Given the description of an element on the screen output the (x, y) to click on. 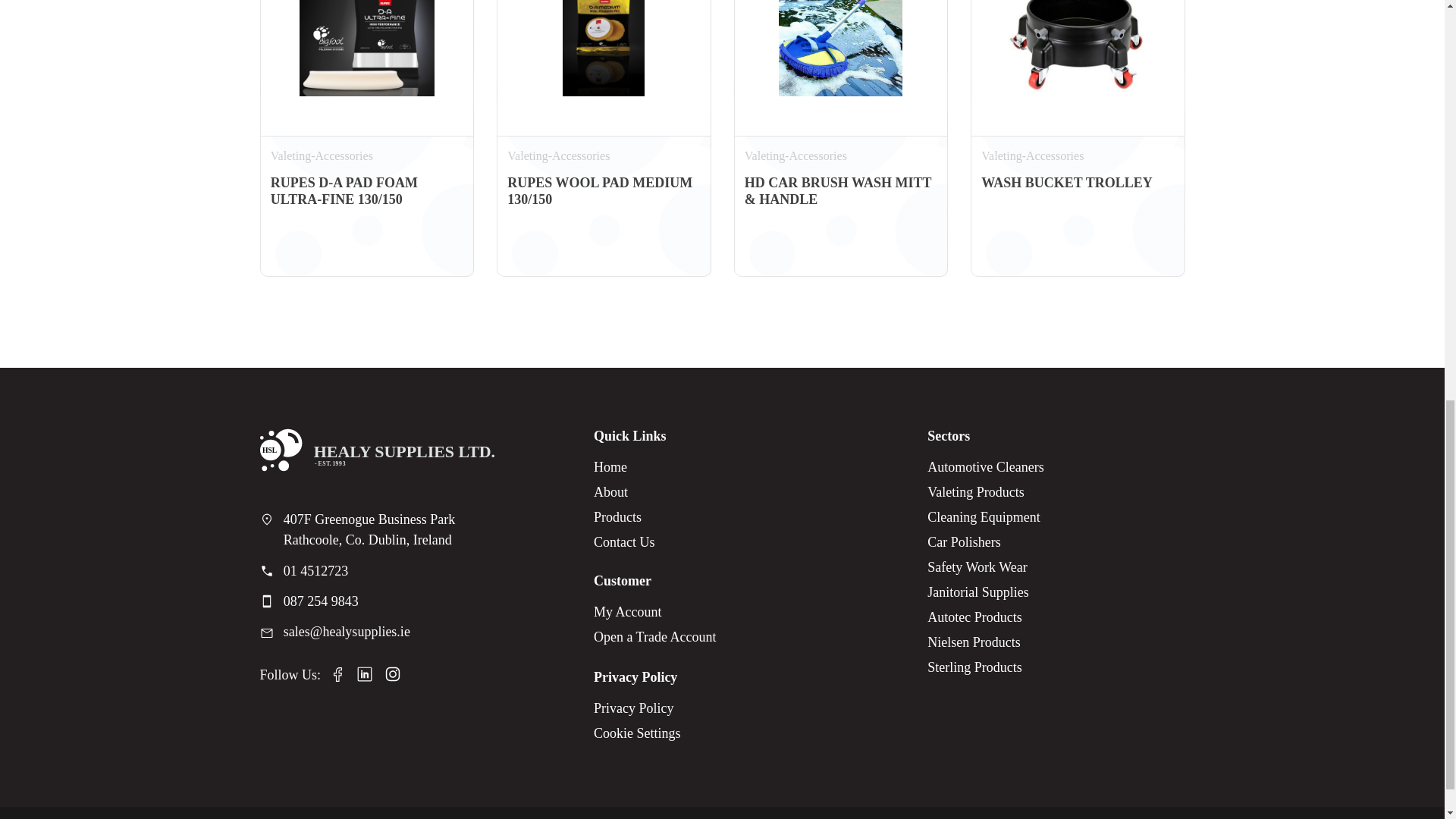
Products (624, 517)
About (624, 492)
Automotive Cleaners (985, 467)
Contact Us (624, 542)
Cookie Settings (637, 733)
My Account (655, 611)
Privacy Policy (637, 708)
Valeting Products (985, 492)
Home (624, 467)
Open a Trade Account (655, 637)
